Given the description of an element on the screen output the (x, y) to click on. 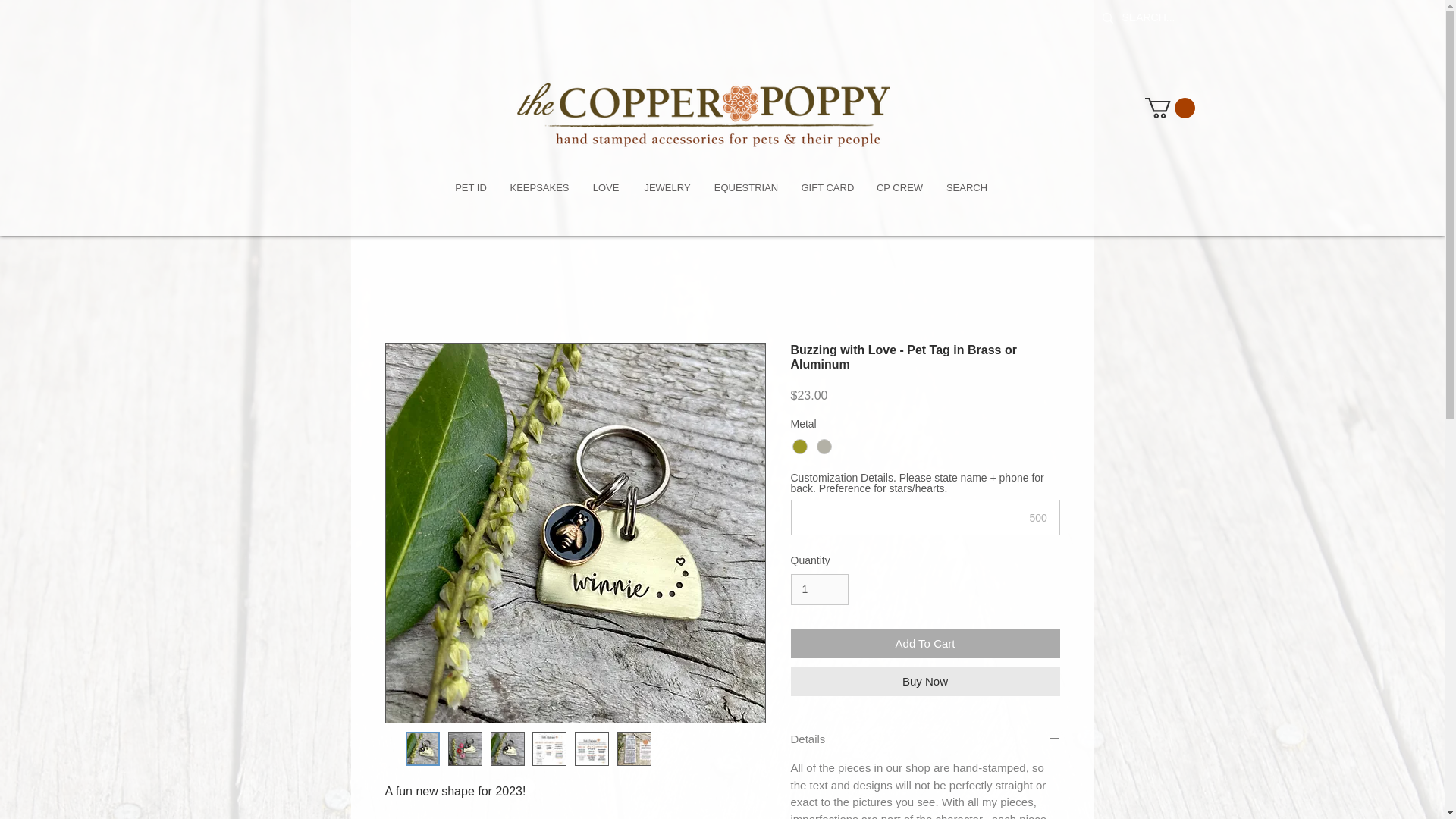
Buy Now (924, 681)
Add To Cart (924, 644)
GIFT CARD (827, 187)
JEWELRY (667, 187)
PET ID (469, 187)
longlogo.png (761, 99)
SEARCH (966, 187)
1 (818, 589)
EQUESTRIAN (745, 187)
KEEPSAKES (539, 187)
CP CREW (899, 187)
LOVE (605, 187)
Details (924, 739)
